Given the description of an element on the screen output the (x, y) to click on. 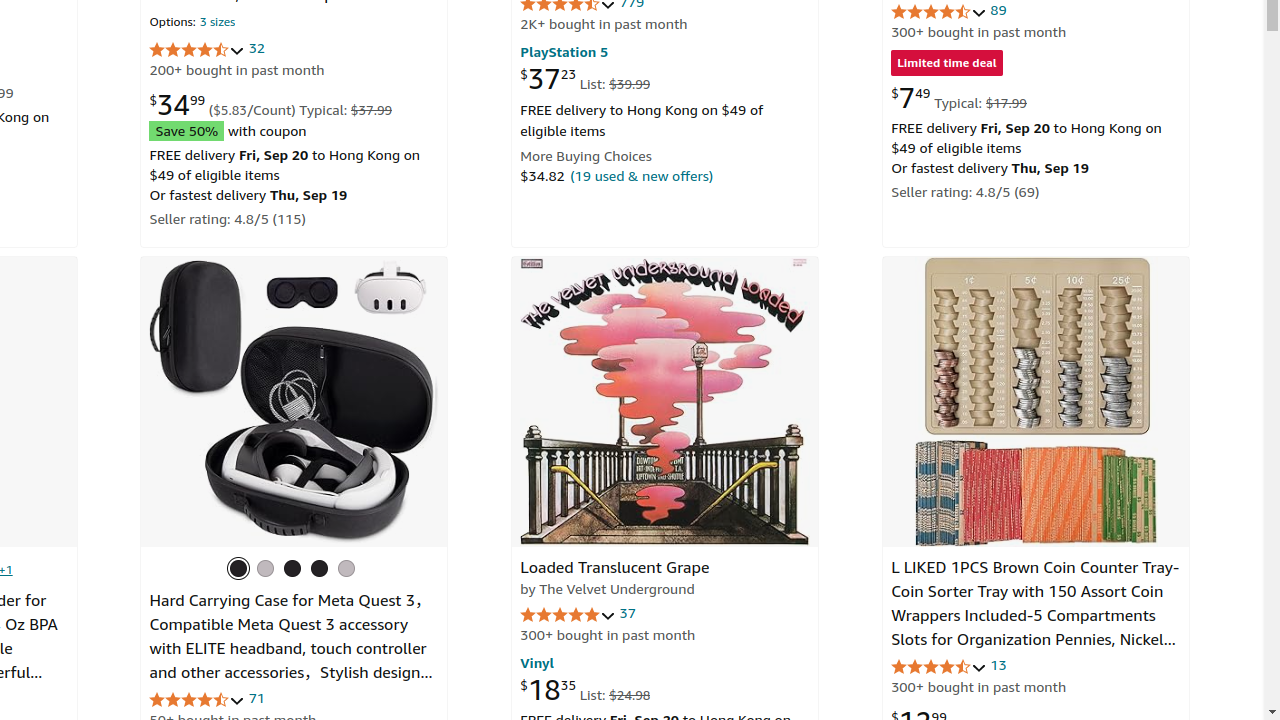
PlayStation 5 Element type: link (564, 51)
3 sizes Element type: link (217, 24)
L LIKED 1PCS Brown Coin Counter Tray-Coin Sorter Tray with 150 Assort Coin Wrappers Included-5 Compartments Slots for Orga... Element type: link (1036, 401)
white+black Element type: push-button (346, 568)
71 Element type: link (257, 698)
